Given the description of an element on the screen output the (x, y) to click on. 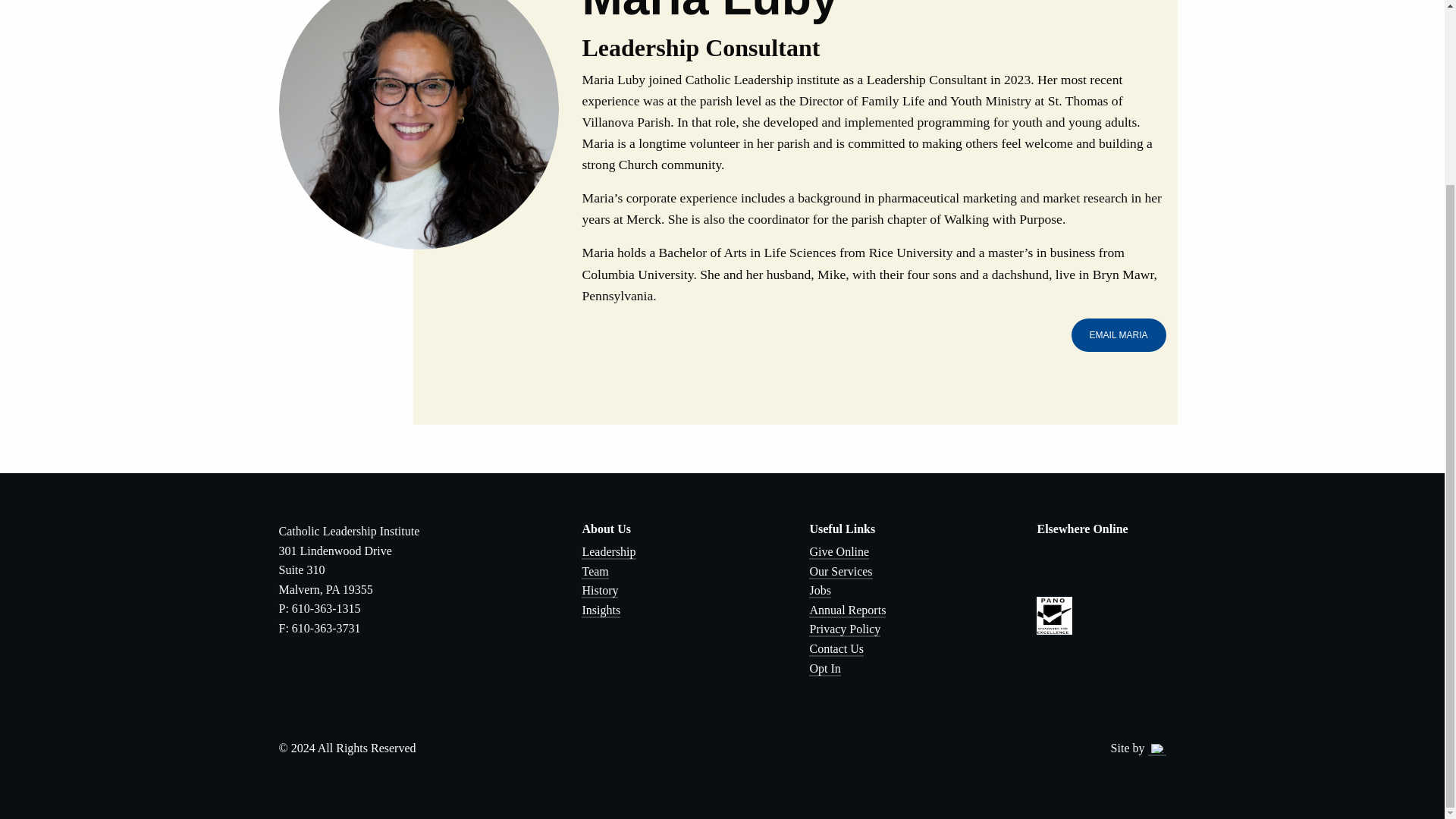
bio image (419, 124)
Insights (600, 610)
History (598, 590)
Give Online (839, 552)
Team (594, 572)
EMAIL MARIA (1118, 335)
Leadership (607, 552)
